Given the description of an element on the screen output the (x, y) to click on. 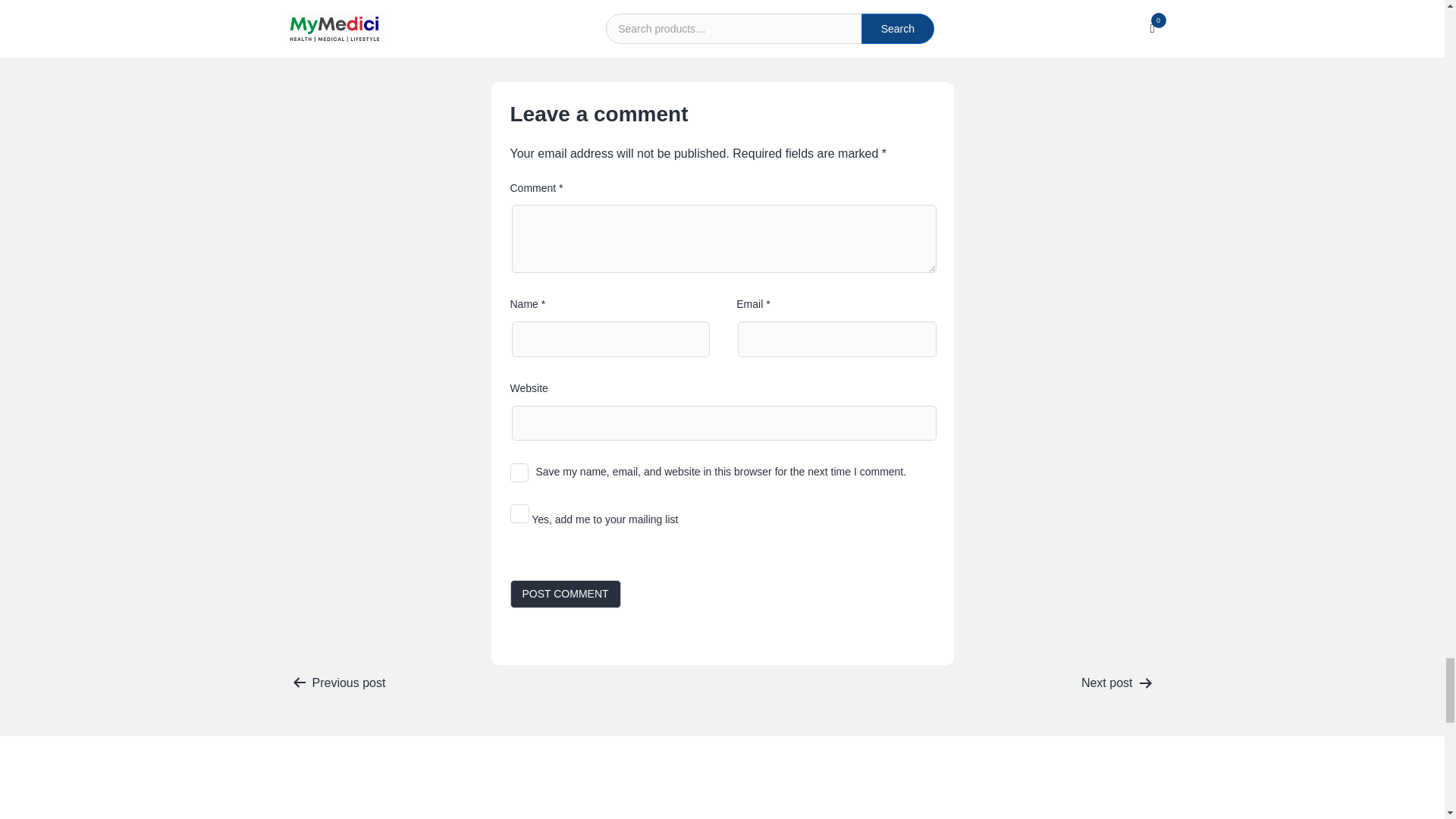
1 (518, 513)
yes (518, 472)
Post Comment (564, 593)
